Given the description of an element on the screen output the (x, y) to click on. 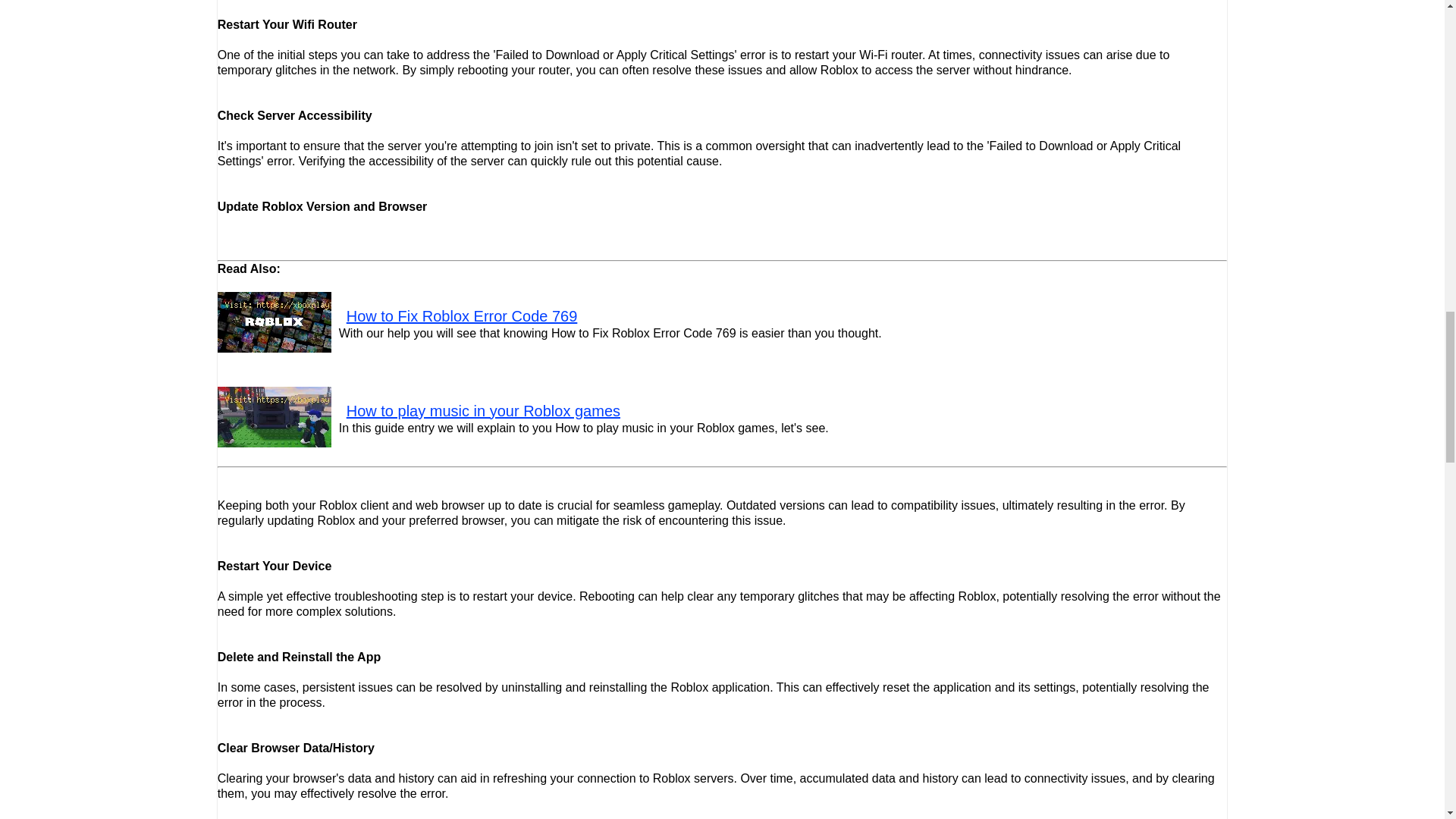
How to Fix Roblox Error Code 769 (462, 315)
How to play music in your Roblox games (483, 410)
